Given the description of an element on the screen output the (x, y) to click on. 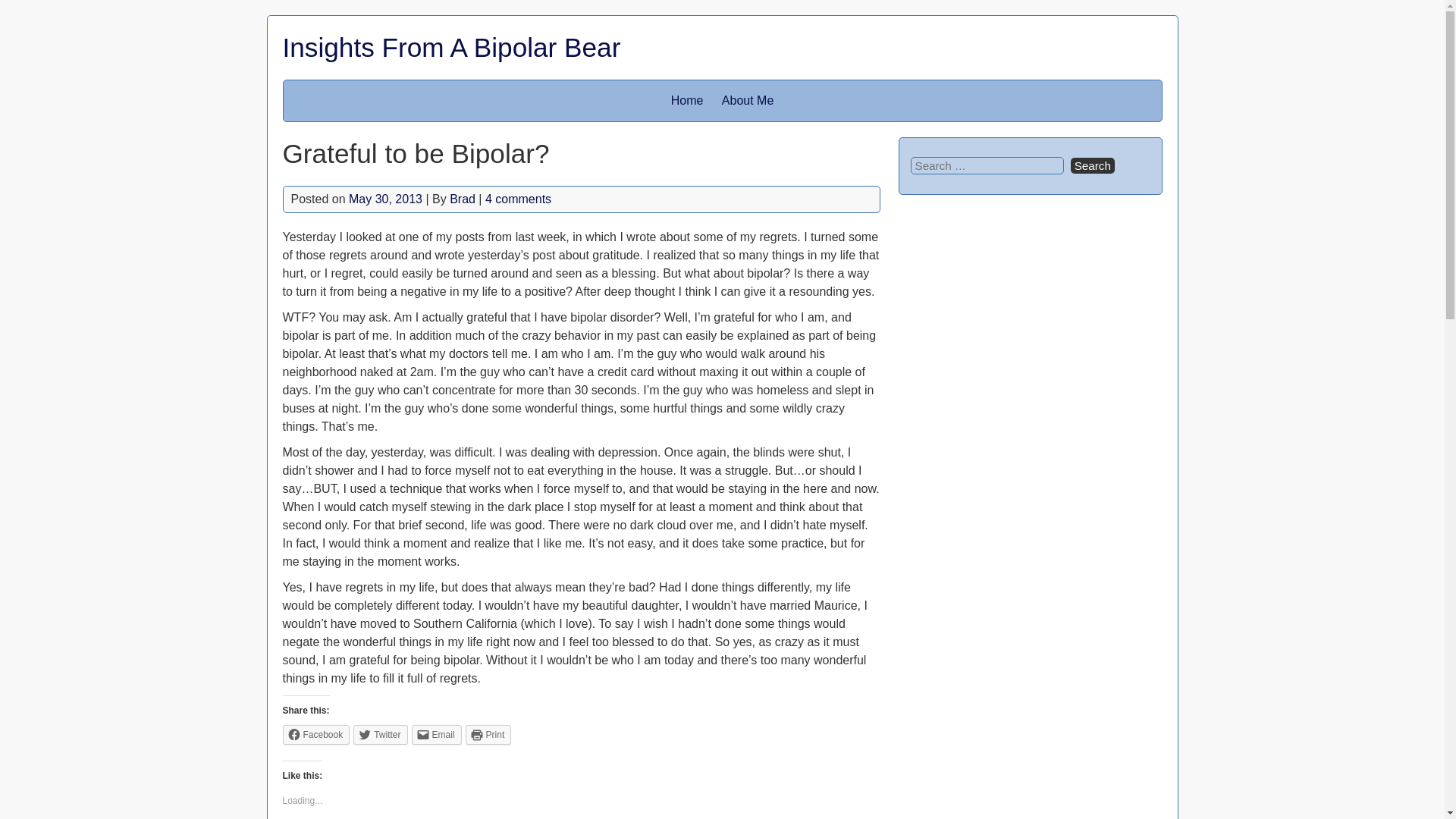
Facebook (315, 734)
Print (488, 734)
Search (1092, 165)
Click to share on Facebook (315, 734)
Twitter (380, 734)
About Me (747, 100)
Email (436, 734)
Insights From A Bipolar Bear (451, 47)
May 30, 2013 (385, 198)
Search (1092, 165)
